Given the description of an element on the screen output the (x, y) to click on. 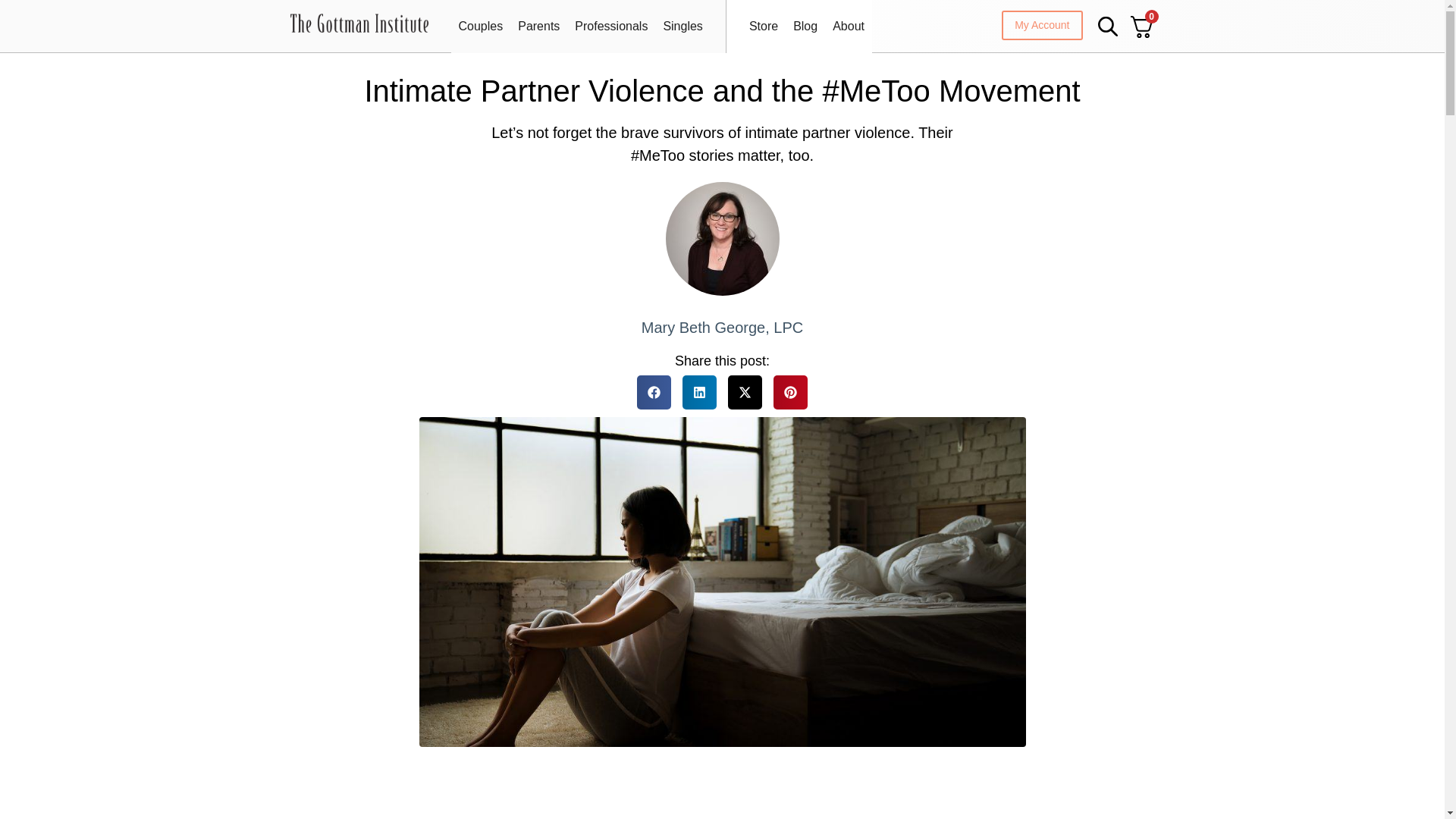
Couples (480, 25)
Parents (538, 25)
Professionals (611, 25)
